Given the description of an element on the screen output the (x, y) to click on. 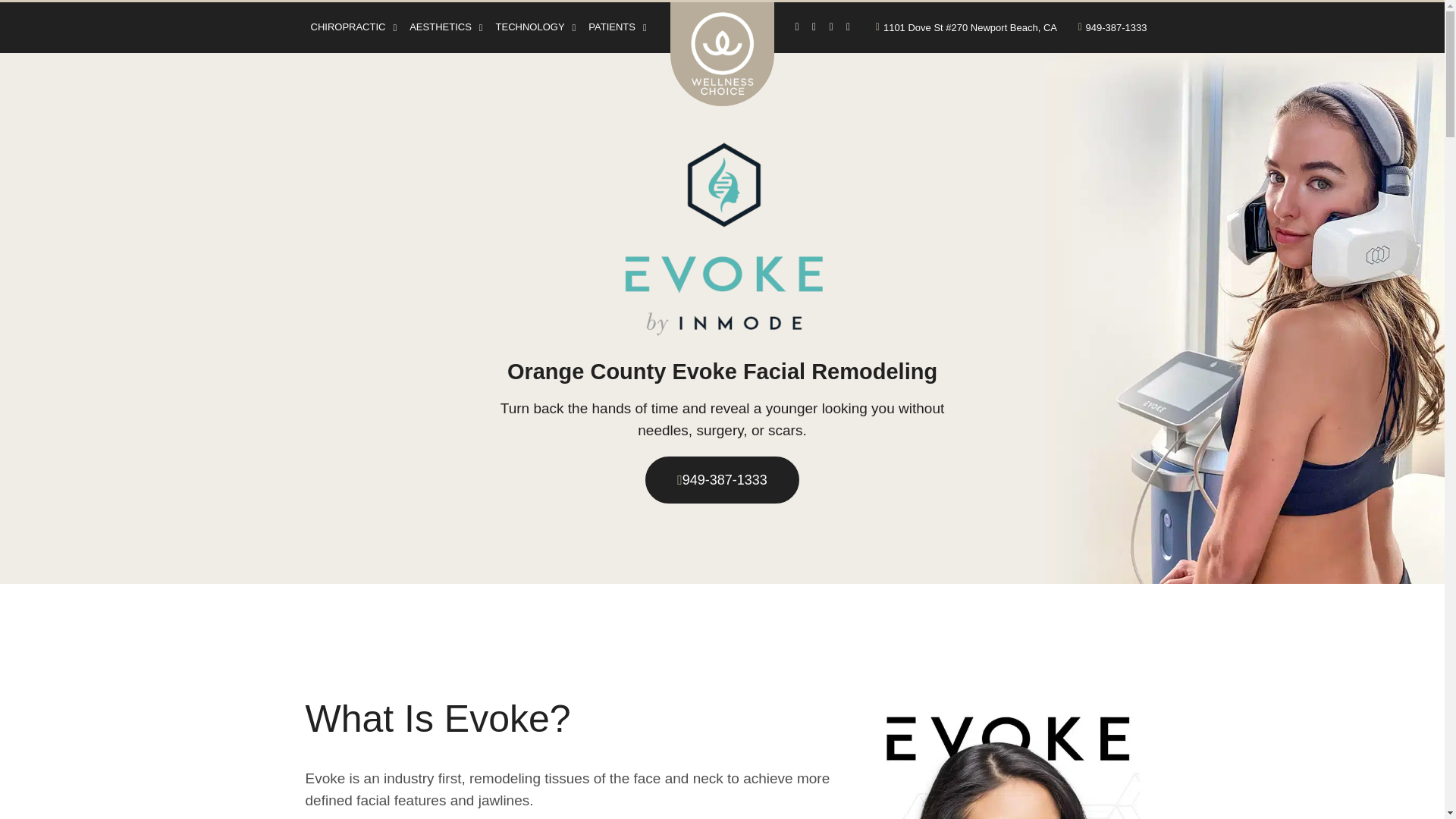
TECHNOLOGY (536, 27)
AESTHETICS (445, 27)
PATIENTS (617, 27)
CHIROPRACTIC (354, 27)
